Given the description of an element on the screen output the (x, y) to click on. 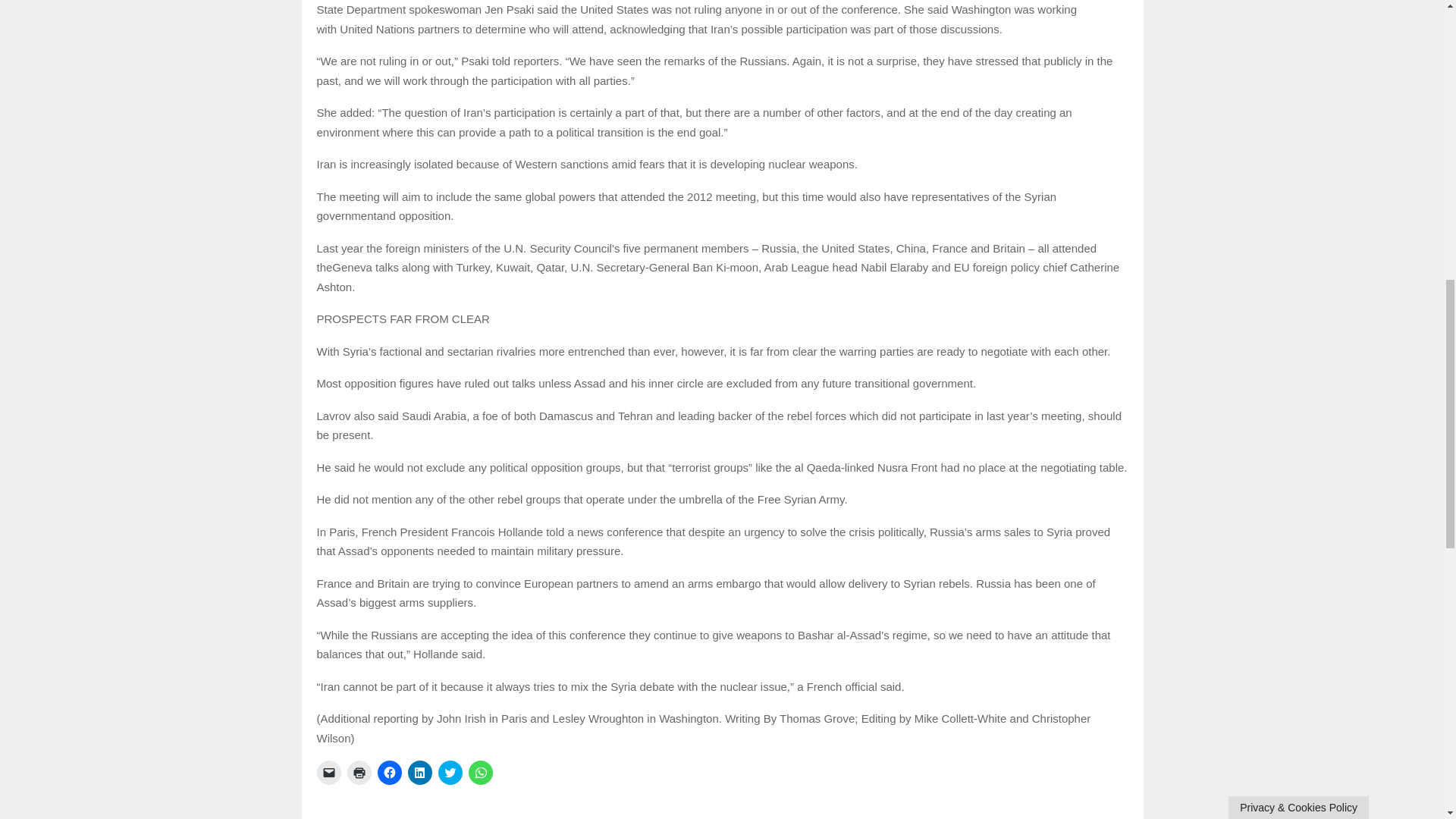
Click to share on Facebook (389, 772)
Click to email a link to a friend (328, 772)
Click to share on LinkedIn (419, 772)
Click to print (359, 772)
